Given the description of an element on the screen output the (x, y) to click on. 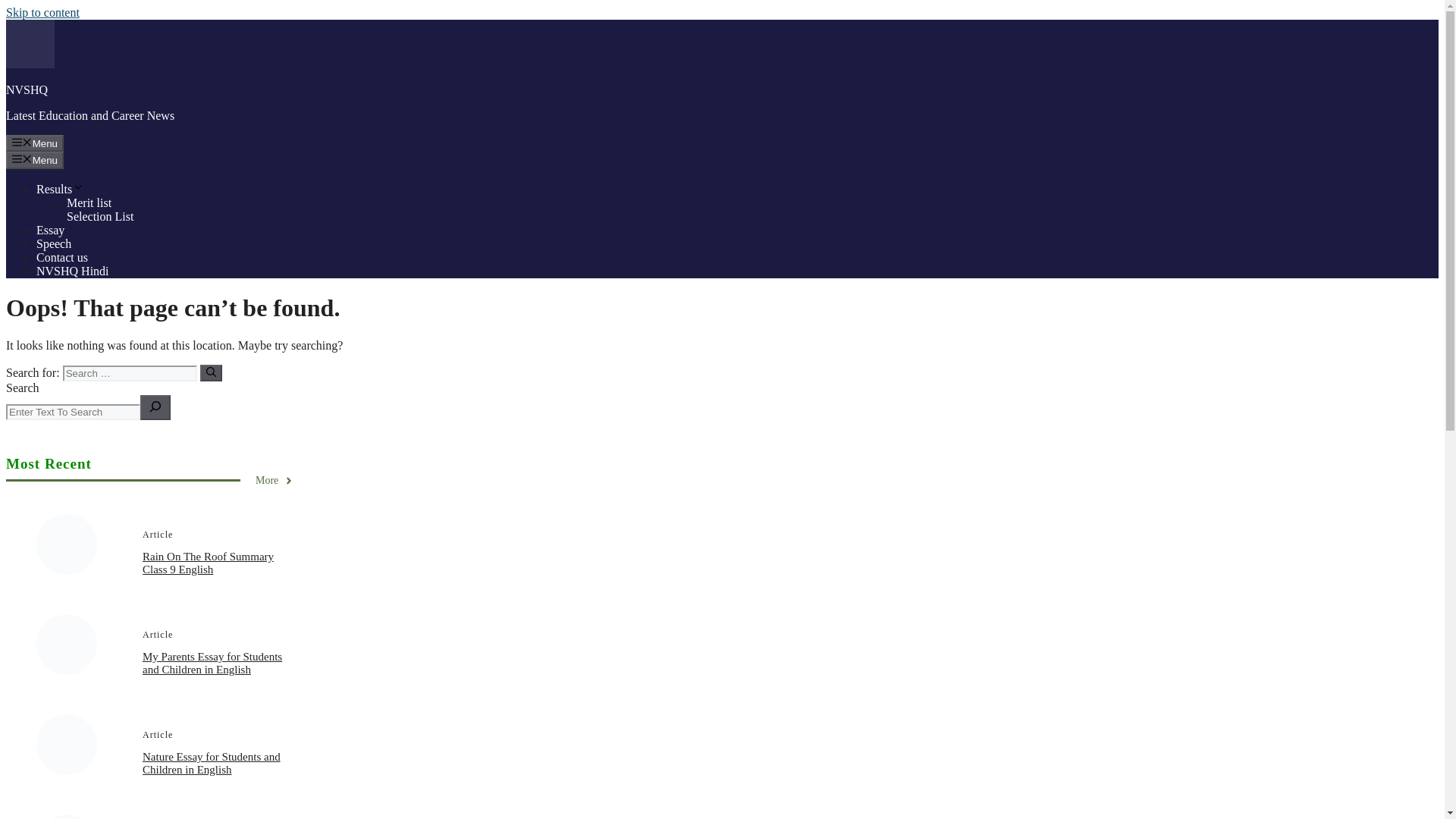
Contact us (61, 256)
NVSHQ Hindi (72, 270)
Search for: (129, 373)
Menu (34, 143)
English Speech Topics (53, 243)
Results (60, 188)
Nature Essay for Students and Children in English (211, 763)
NVSHQ Hindi (72, 270)
Essay (50, 229)
Selection List (99, 215)
Results (60, 188)
Speech (53, 243)
Merit list (89, 202)
More (275, 480)
Rain On The Roof Summary Class 9 English (207, 562)
